Given the description of an element on the screen output the (x, y) to click on. 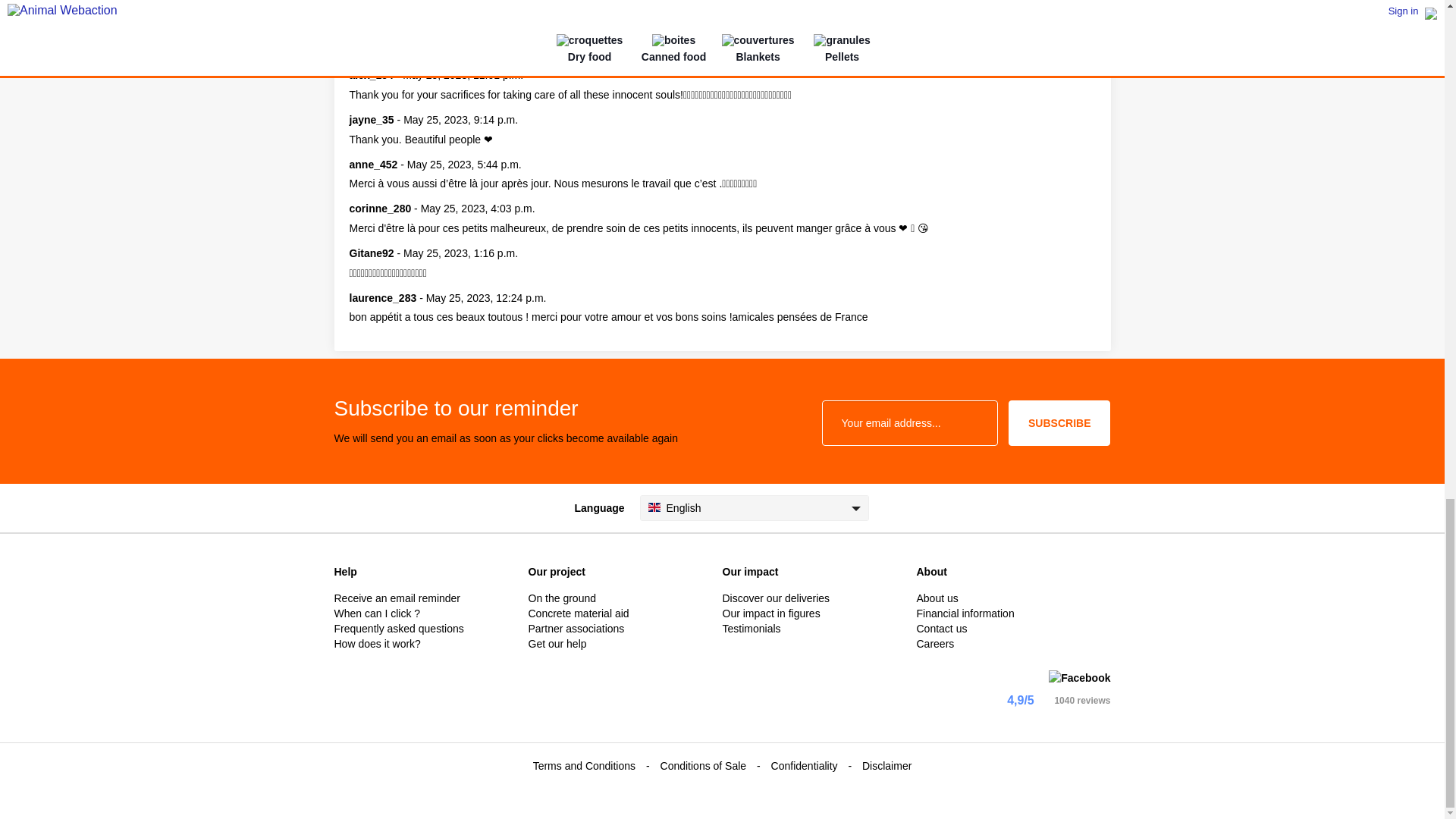
Subscribe (1059, 422)
